Given the description of an element on the screen output the (x, y) to click on. 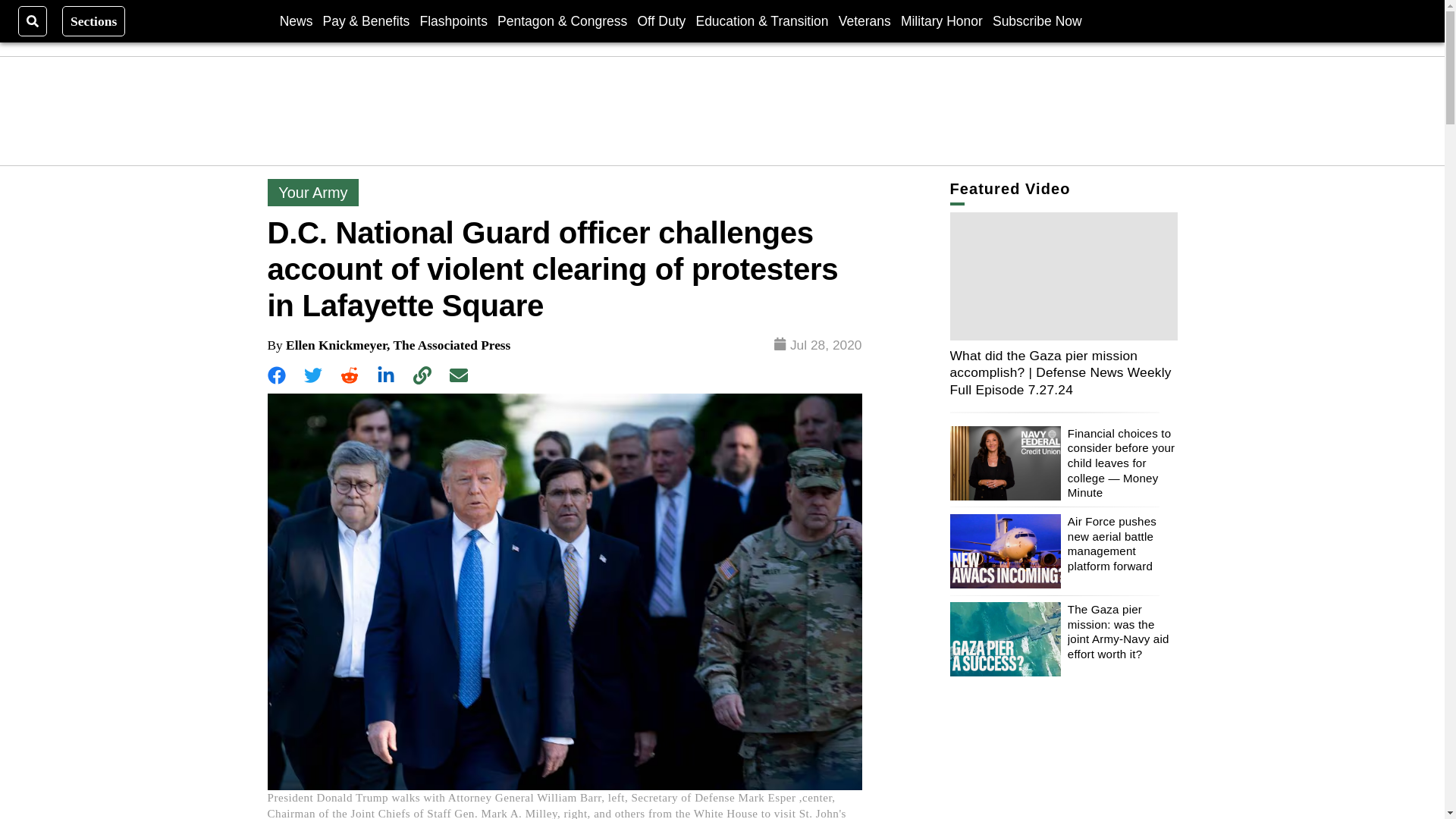
Off Duty (661, 20)
News (296, 20)
Veterans (864, 20)
Military Honor (941, 20)
Sections (93, 20)
Flashpoints (453, 20)
